Given the description of an element on the screen output the (x, y) to click on. 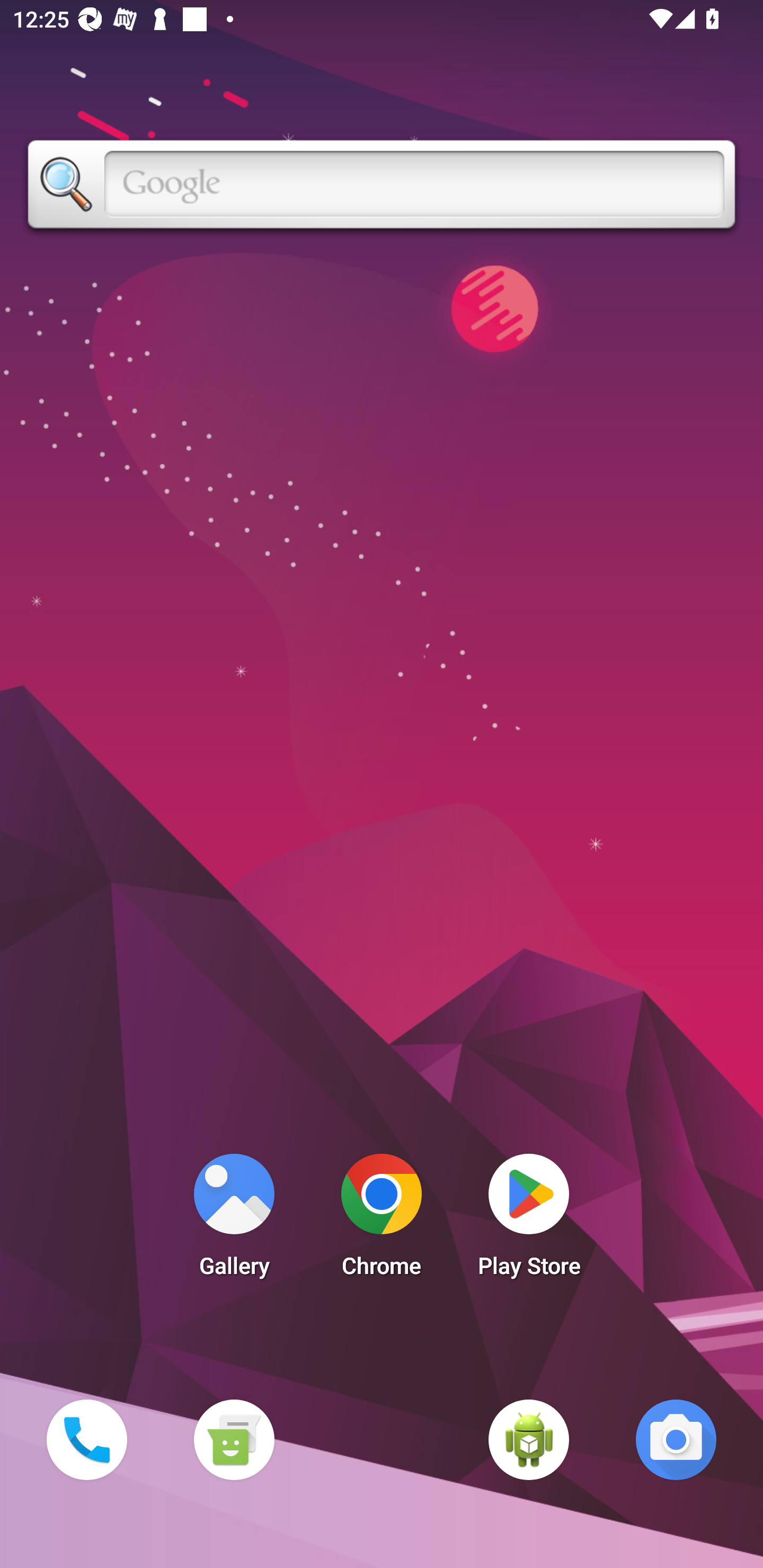
Gallery (233, 1220)
Chrome (381, 1220)
Play Store (528, 1220)
Phone (86, 1439)
Messaging (233, 1439)
WebView Browser Tester (528, 1439)
Camera (676, 1439)
